Given the description of an element on the screen output the (x, y) to click on. 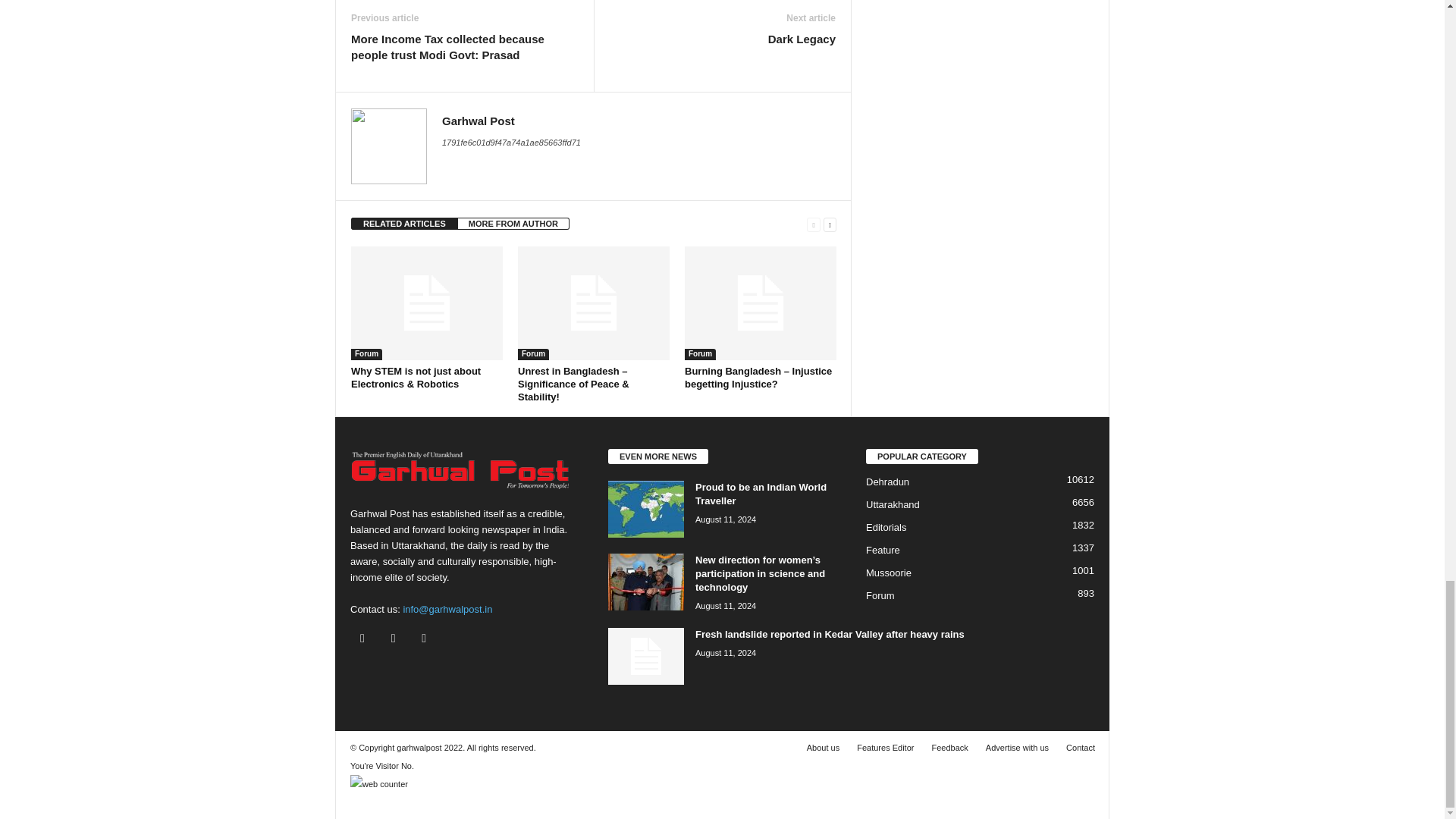
Twitter (396, 638)
Facebook (365, 638)
Youtube (425, 638)
